Given the description of an element on the screen output the (x, y) to click on. 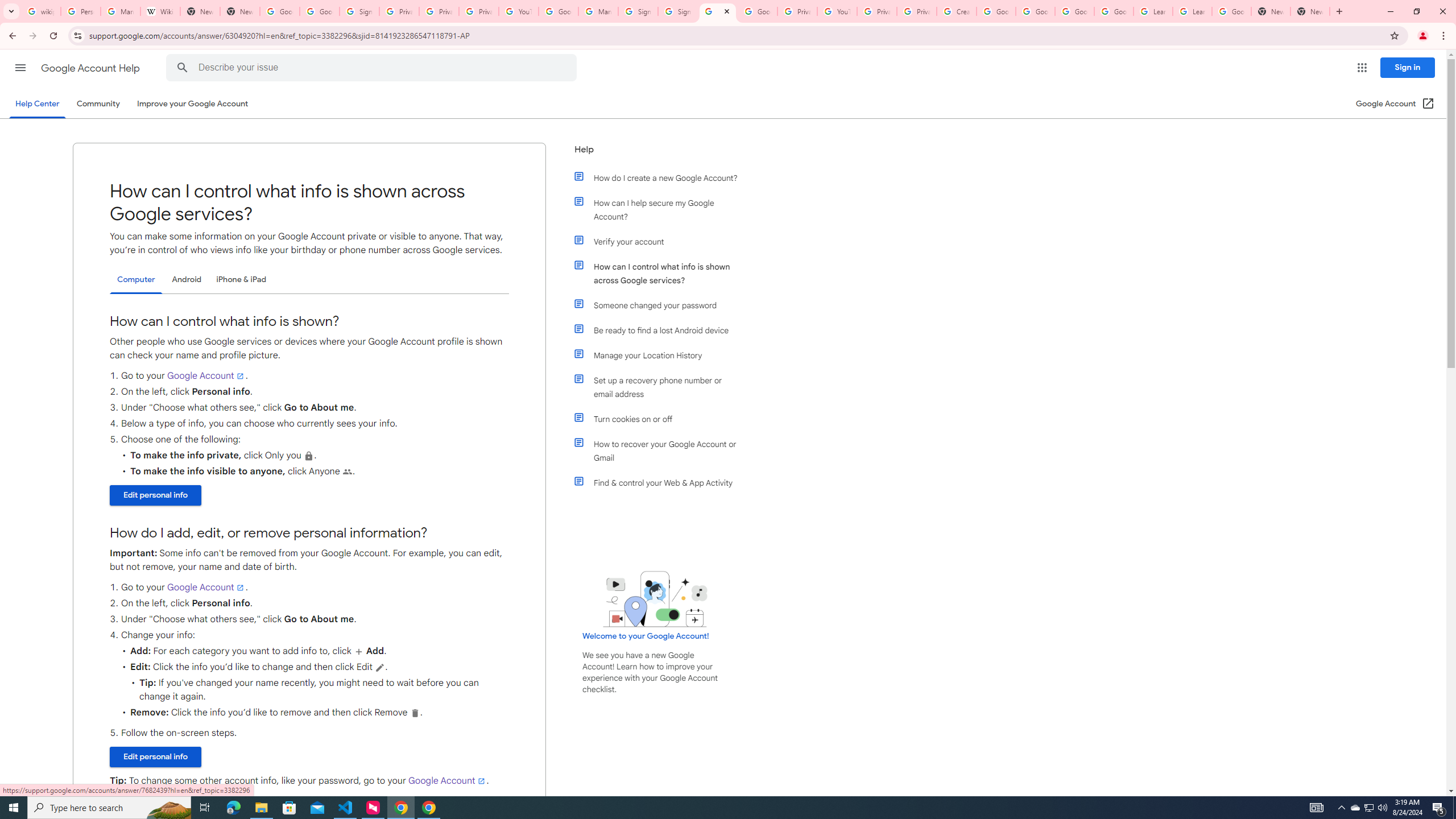
Verify your account (661, 241)
Sign in - Google Accounts (677, 11)
Google Account Help (557, 11)
New Tab (239, 11)
Google Drive: Sign-in (319, 11)
